Given the description of an element on the screen output the (x, y) to click on. 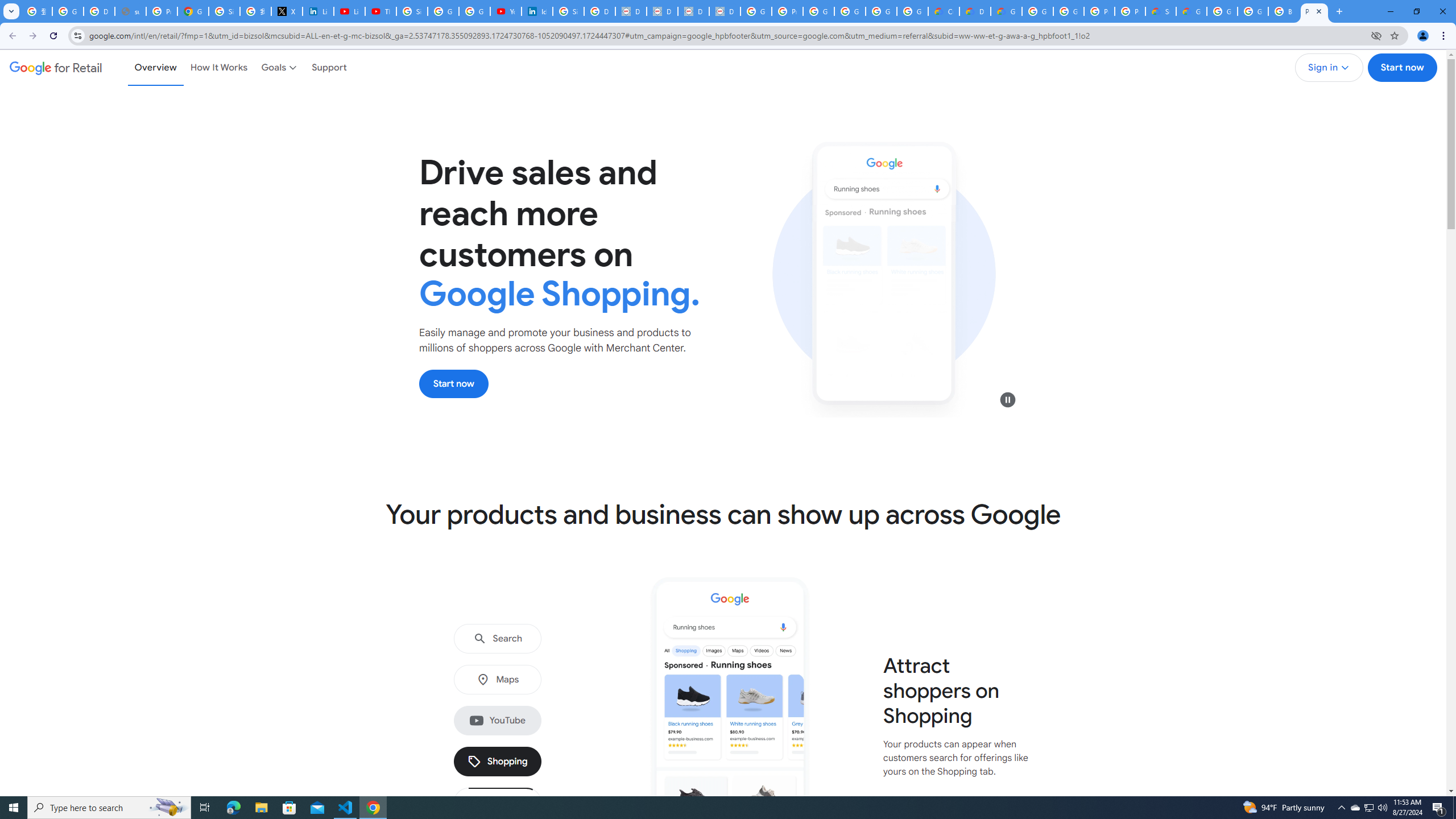
Sign in - Google Accounts (223, 11)
Google Cloud Service Health (1190, 11)
Support (328, 67)
Identity verification via Persona | LinkedIn Help (536, 11)
